Given the description of an element on the screen output the (x, y) to click on. 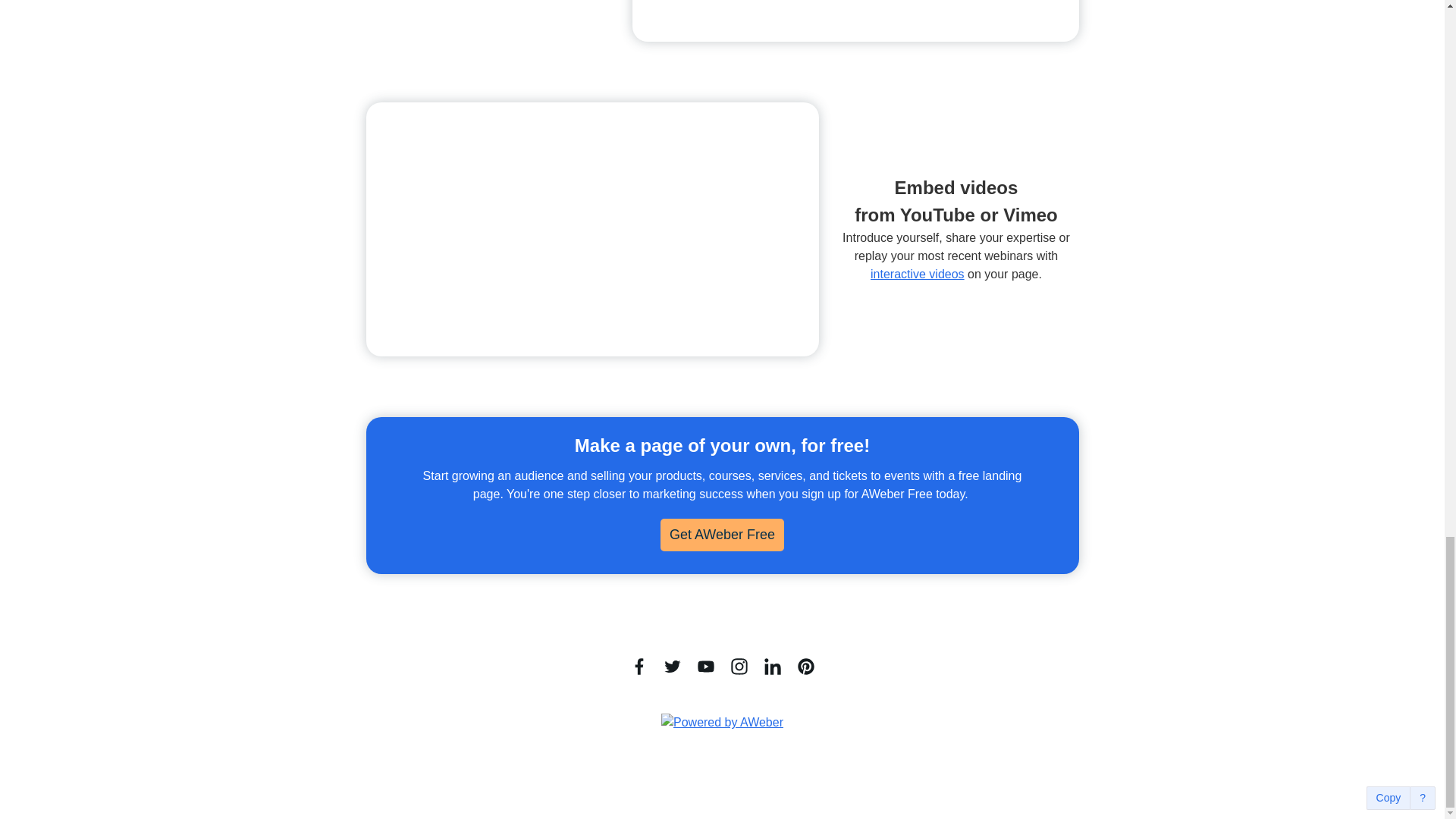
Twitter (671, 666)
YouTube (705, 666)
LinkedIn (772, 666)
Pinterest (804, 666)
Instagram (738, 666)
interactive videos (916, 273)
LinkedIn (772, 666)
Facebook (638, 666)
Get AWeber Free (722, 534)
Copy (1388, 797)
YouTube (705, 666)
? (1422, 797)
Twitter (671, 666)
YouTube (591, 229)
Facebook (638, 666)
